Given the description of an element on the screen output the (x, y) to click on. 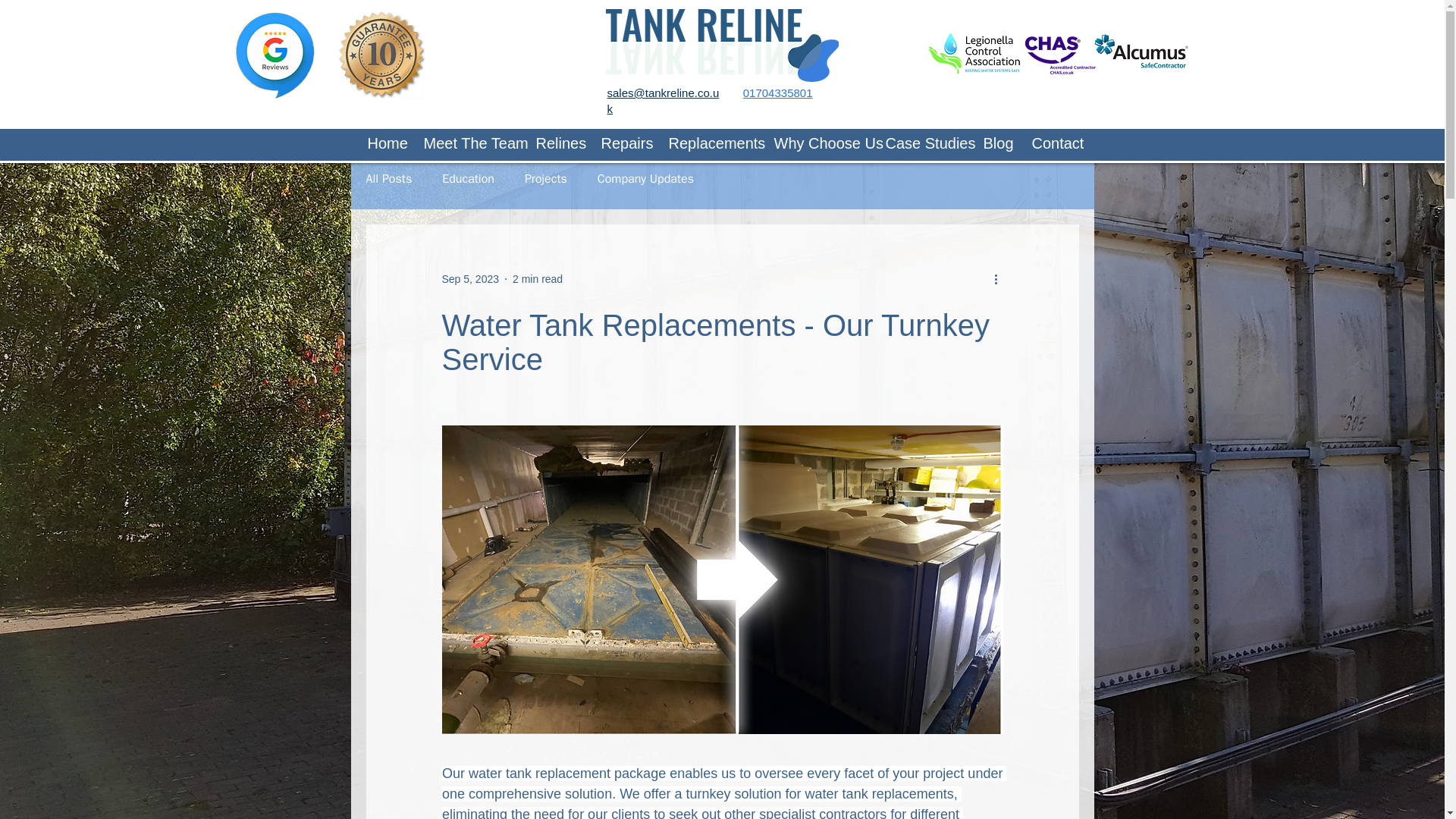
Home (384, 143)
Sep 5, 2023 (470, 278)
Replacements (708, 143)
Education (468, 179)
01704335801 (777, 92)
Repairs (623, 143)
Blog (996, 143)
Projects (545, 179)
Relines (556, 143)
Legionella Control Association (975, 50)
Contact (1054, 143)
Meet The Team (468, 143)
2 min read (537, 278)
Why Choose Us (818, 143)
Case Studies (922, 143)
